Given the description of an element on the screen output the (x, y) to click on. 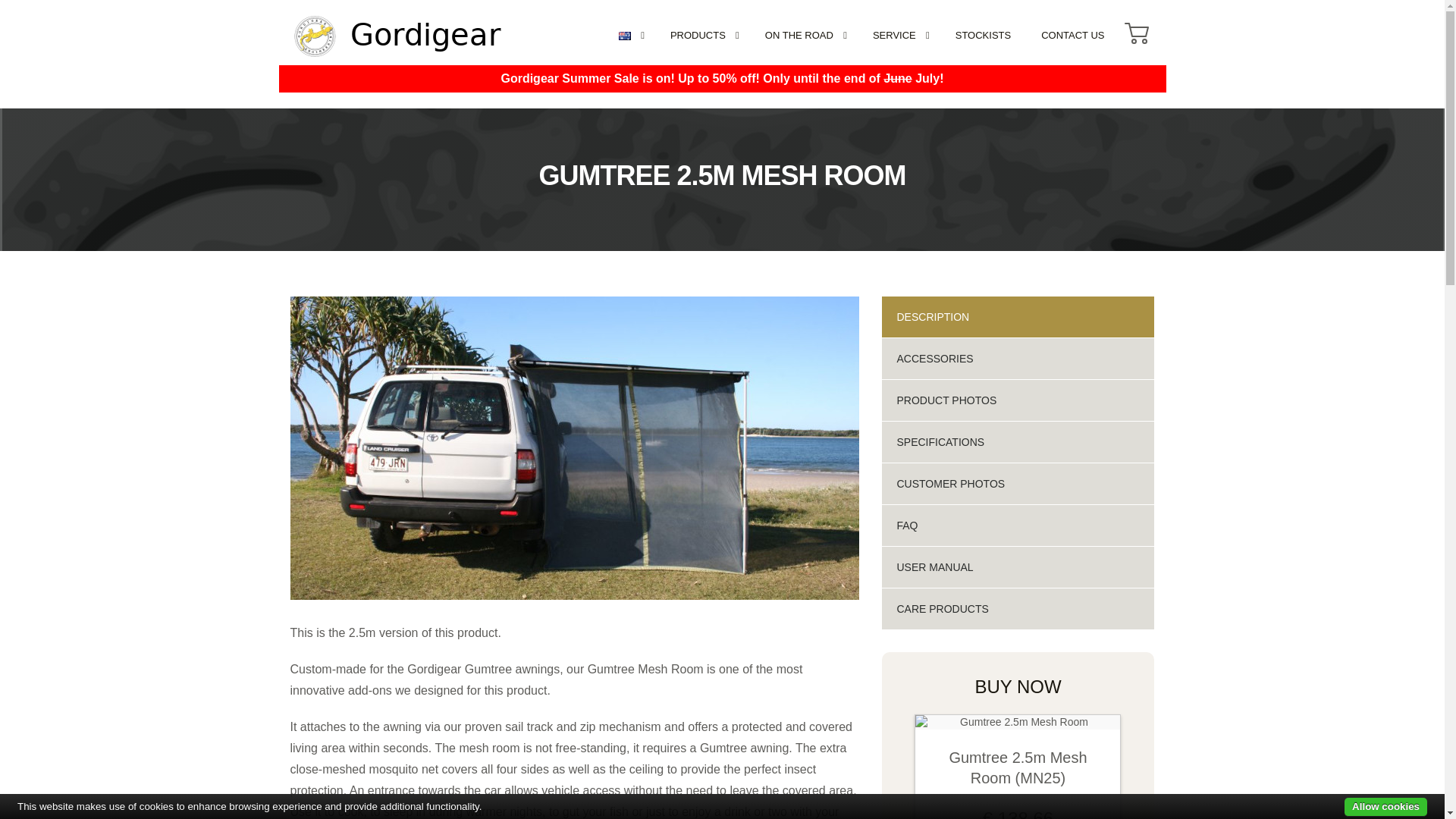
On The Road (803, 35)
USER MANUAL (1017, 567)
Service (898, 35)
PRODUCTS (702, 35)
CARE PRODUCTS (1017, 608)
ACCESSORIES (1017, 358)
Products (702, 35)
FAQ (1017, 525)
SPECIFICATIONS (1017, 441)
STOCKISTS (983, 35)
ON THE ROAD (803, 35)
DESCRIPTION (1017, 316)
CONTACT US (1072, 35)
PRODUCT PHOTOS (1017, 400)
SERVICE (898, 35)
